Given the description of an element on the screen output the (x, y) to click on. 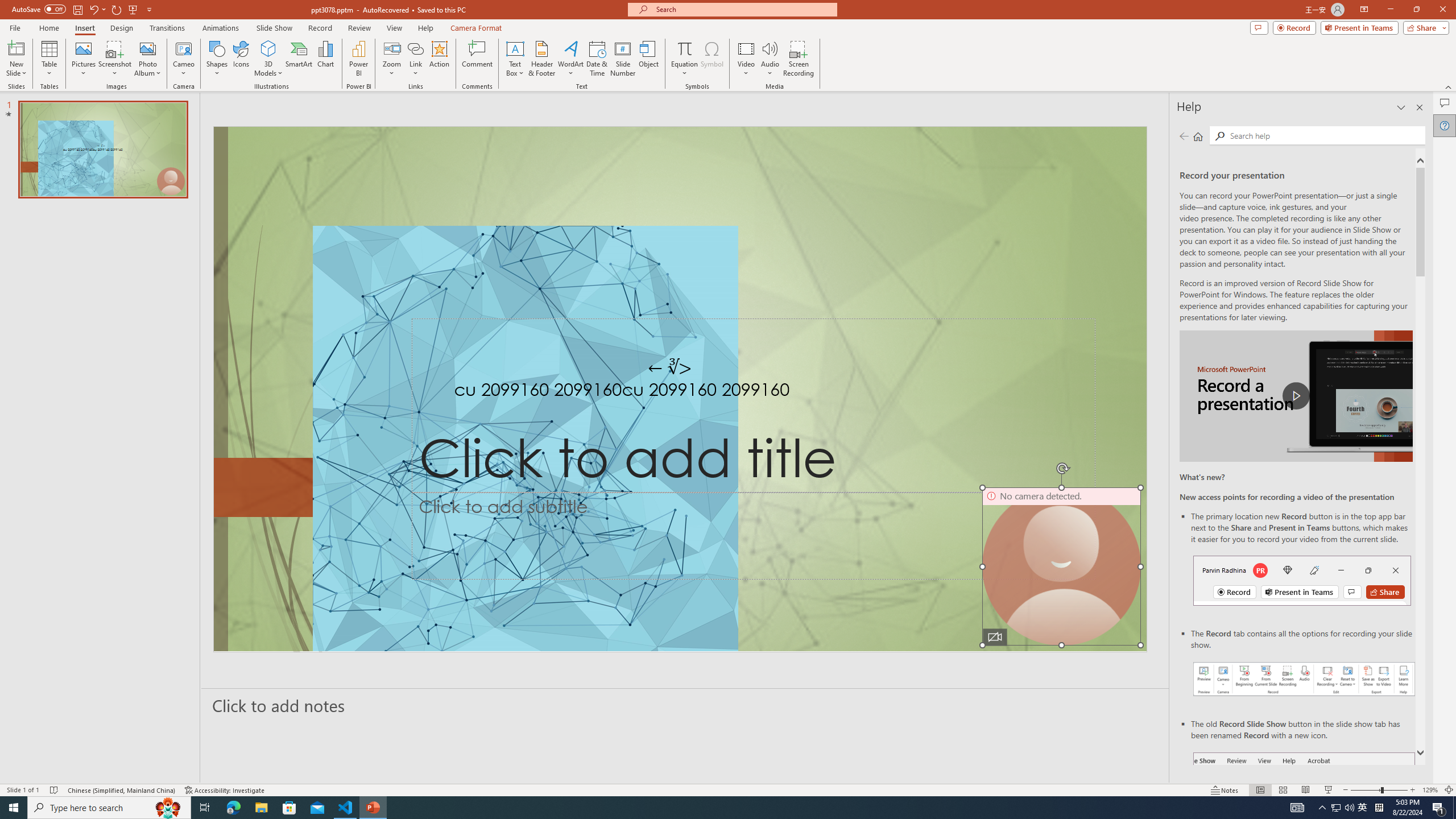
SmartArt... (298, 58)
Date & Time... (596, 58)
Previous page (1183, 136)
Audio (769, 58)
Draw Horizontal Text Box (515, 48)
Zoom 129% (1430, 790)
Comment (476, 58)
